Given the description of an element on the screen output the (x, y) to click on. 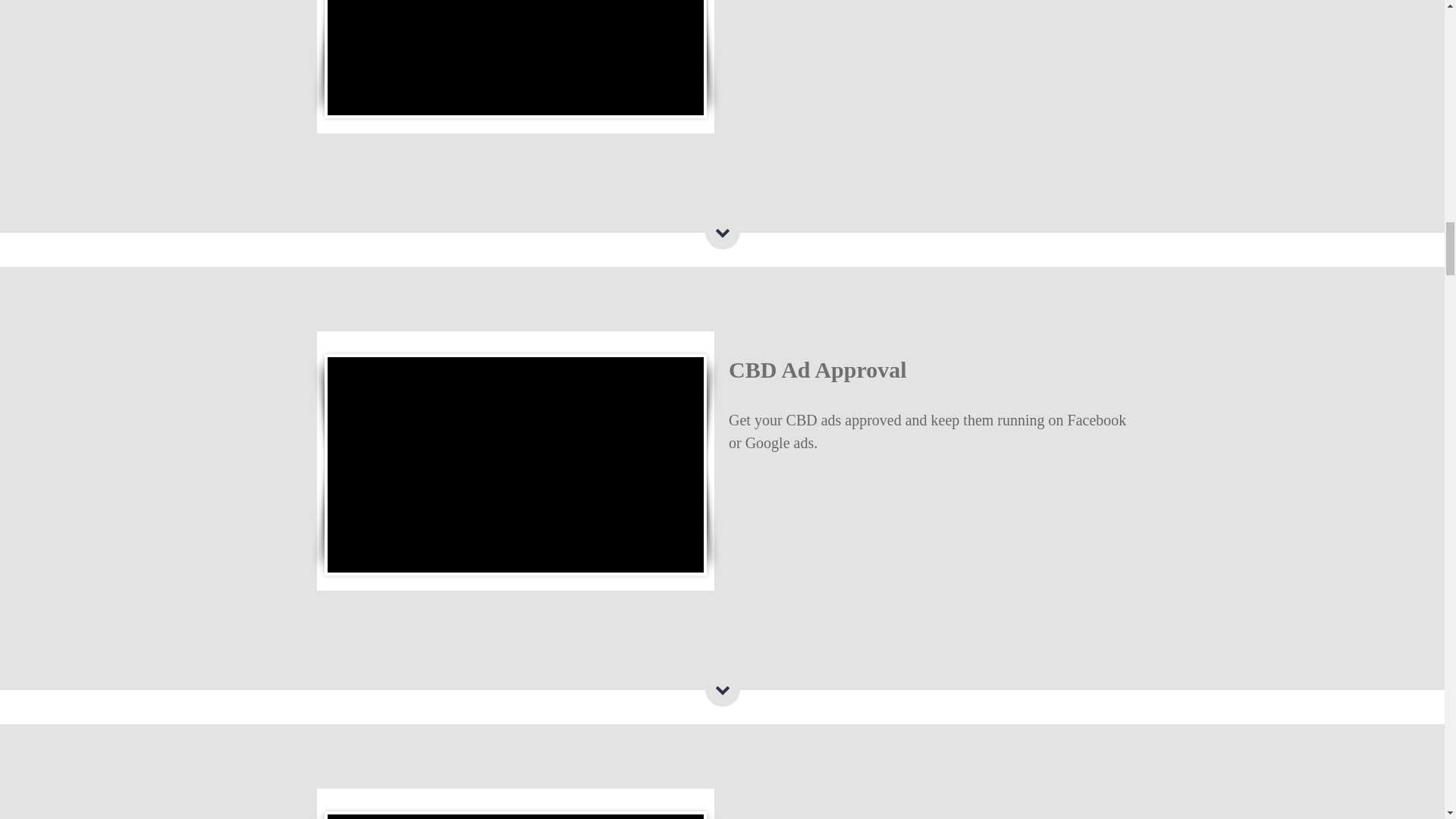
Responsive Video (515, 464)
Responsive Video (515, 58)
Responsive Video (515, 816)
